Given the description of an element on the screen output the (x, y) to click on. 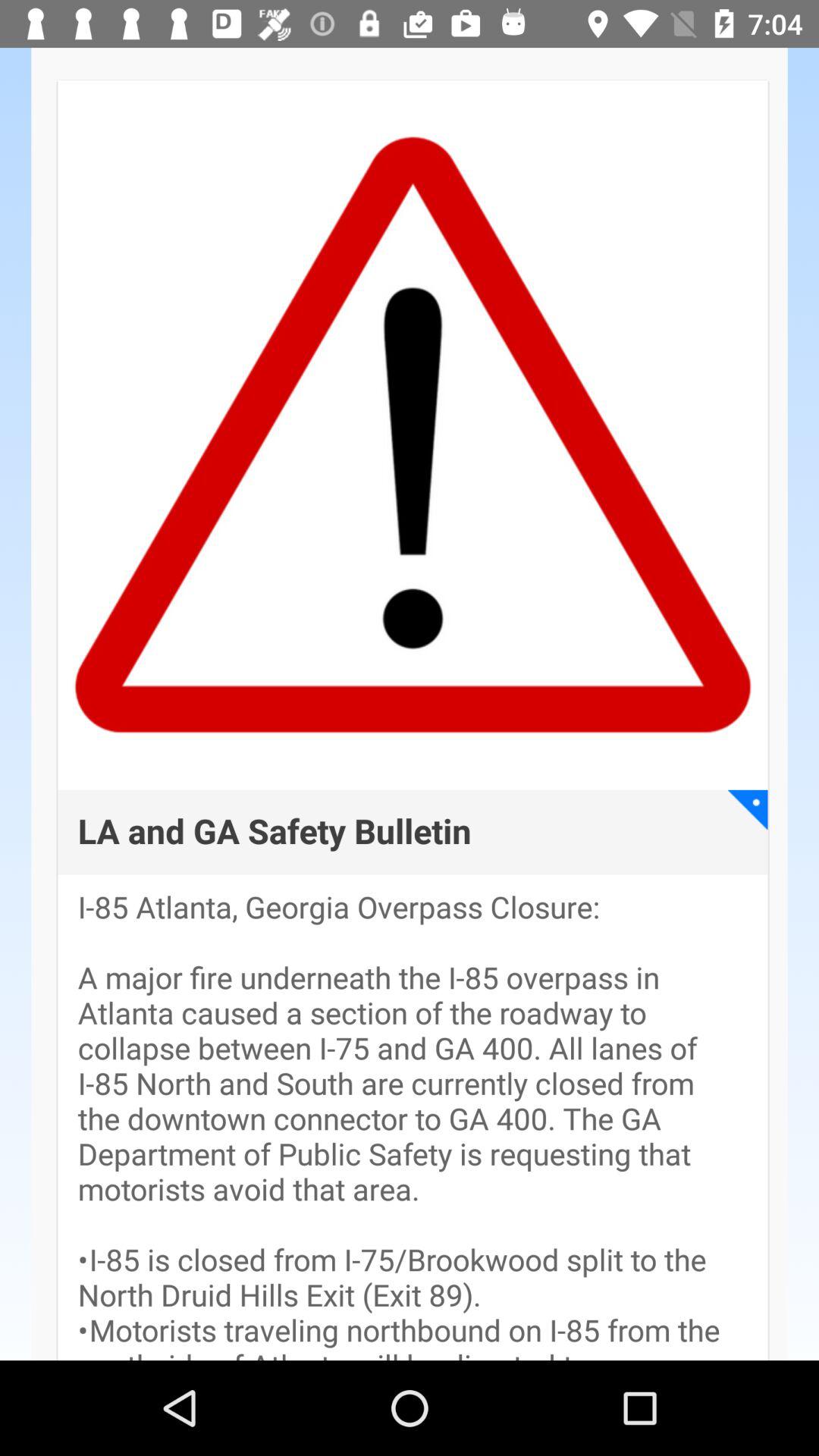
turn off the app above i 85 atlanta item (274, 832)
